Given the description of an element on the screen output the (x, y) to click on. 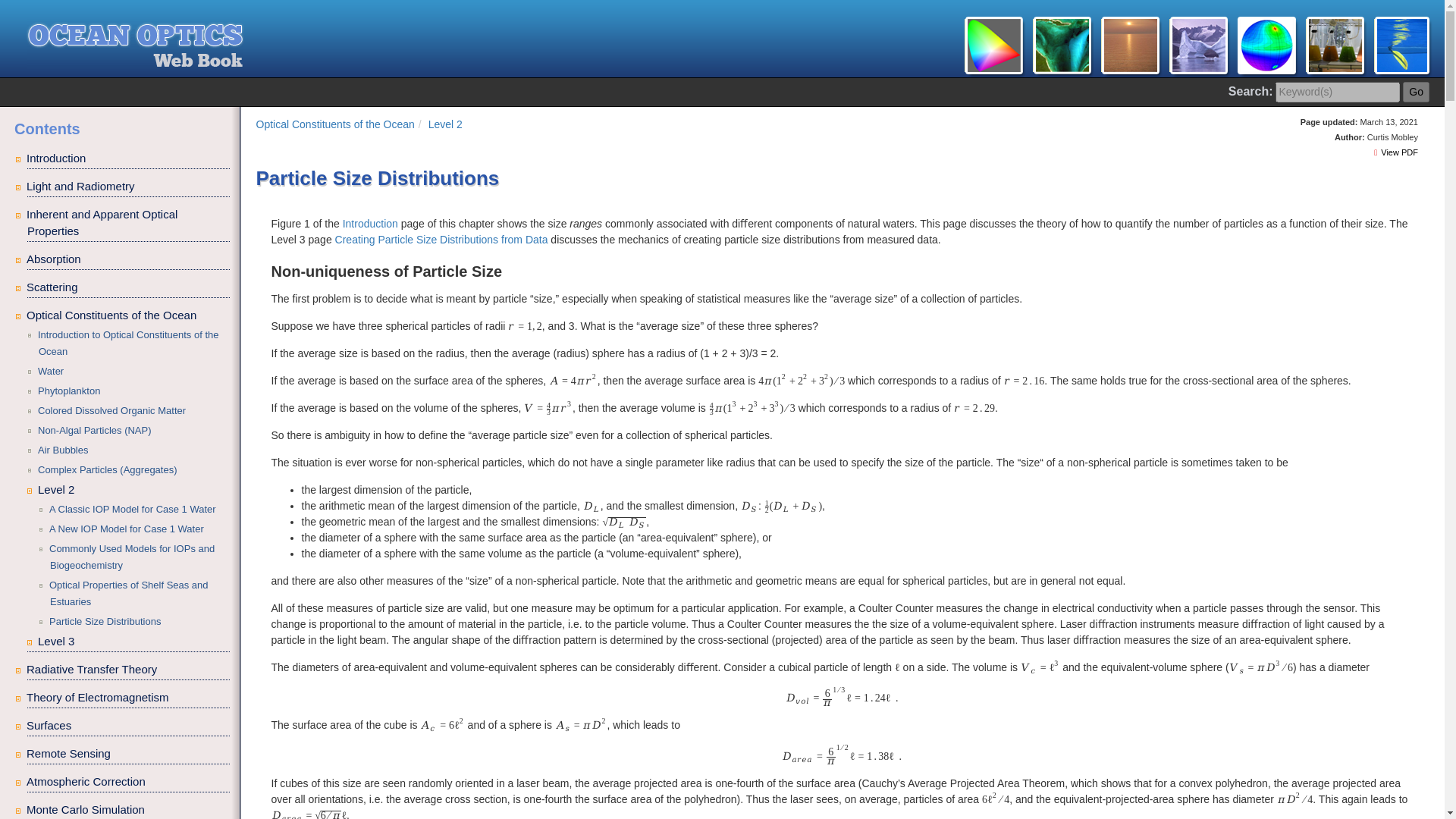
Absorption (128, 259)
Home of Ocean Optics Web Book (725, 42)
Go (1416, 91)
Inherent and Apparent Optical Properties (128, 222)
View this Document as PDF (1396, 152)
Light and Radiometry (128, 186)
Go (1416, 91)
Introduction (128, 158)
